Given the description of an element on the screen output the (x, y) to click on. 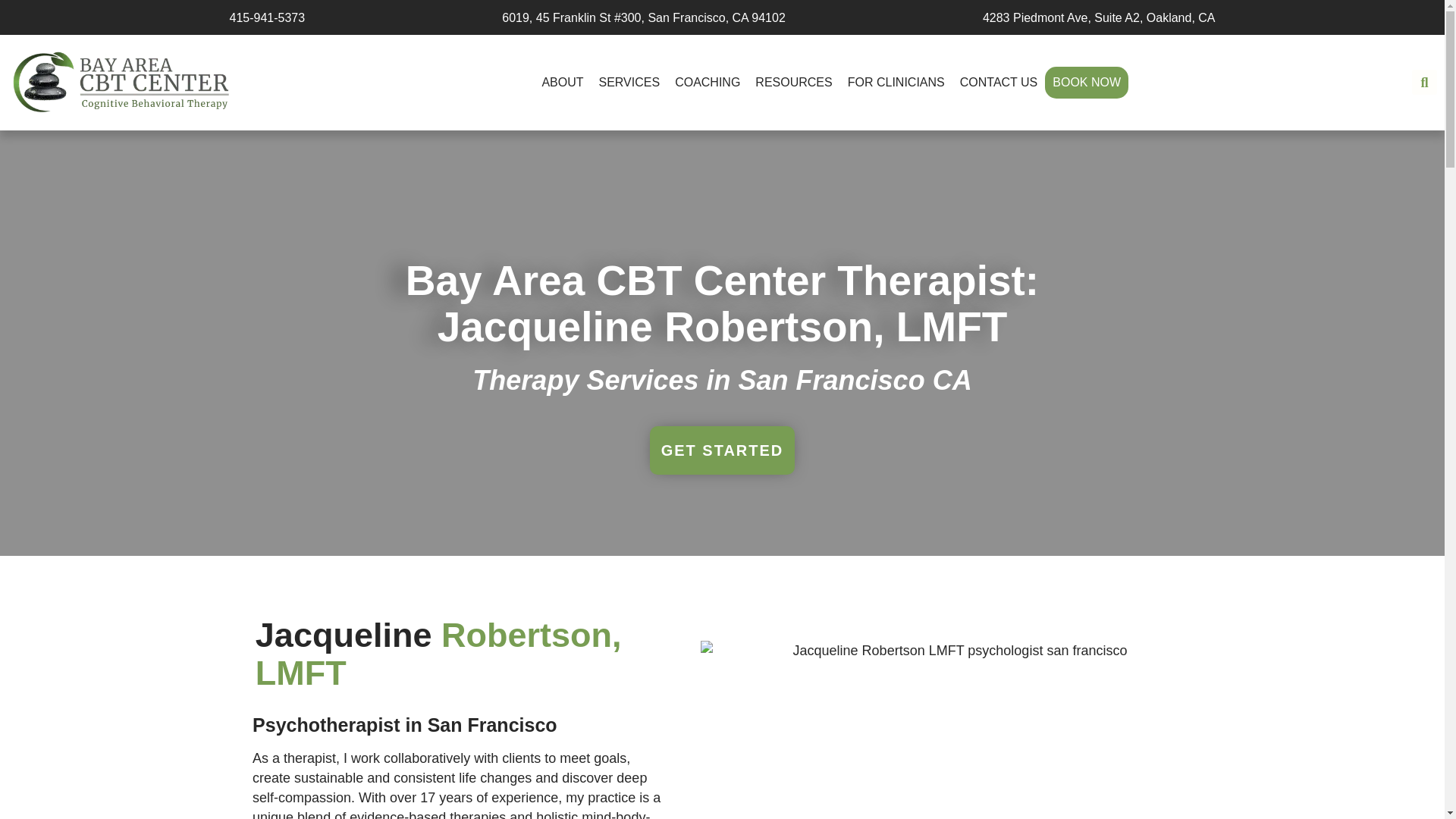
ABOUT (562, 82)
SERVICES (629, 82)
415-941-5373 (266, 17)
4283 Piedmont Ave, Suite A2, Oakland, CA (1098, 17)
